Given the description of an element on the screen output the (x, y) to click on. 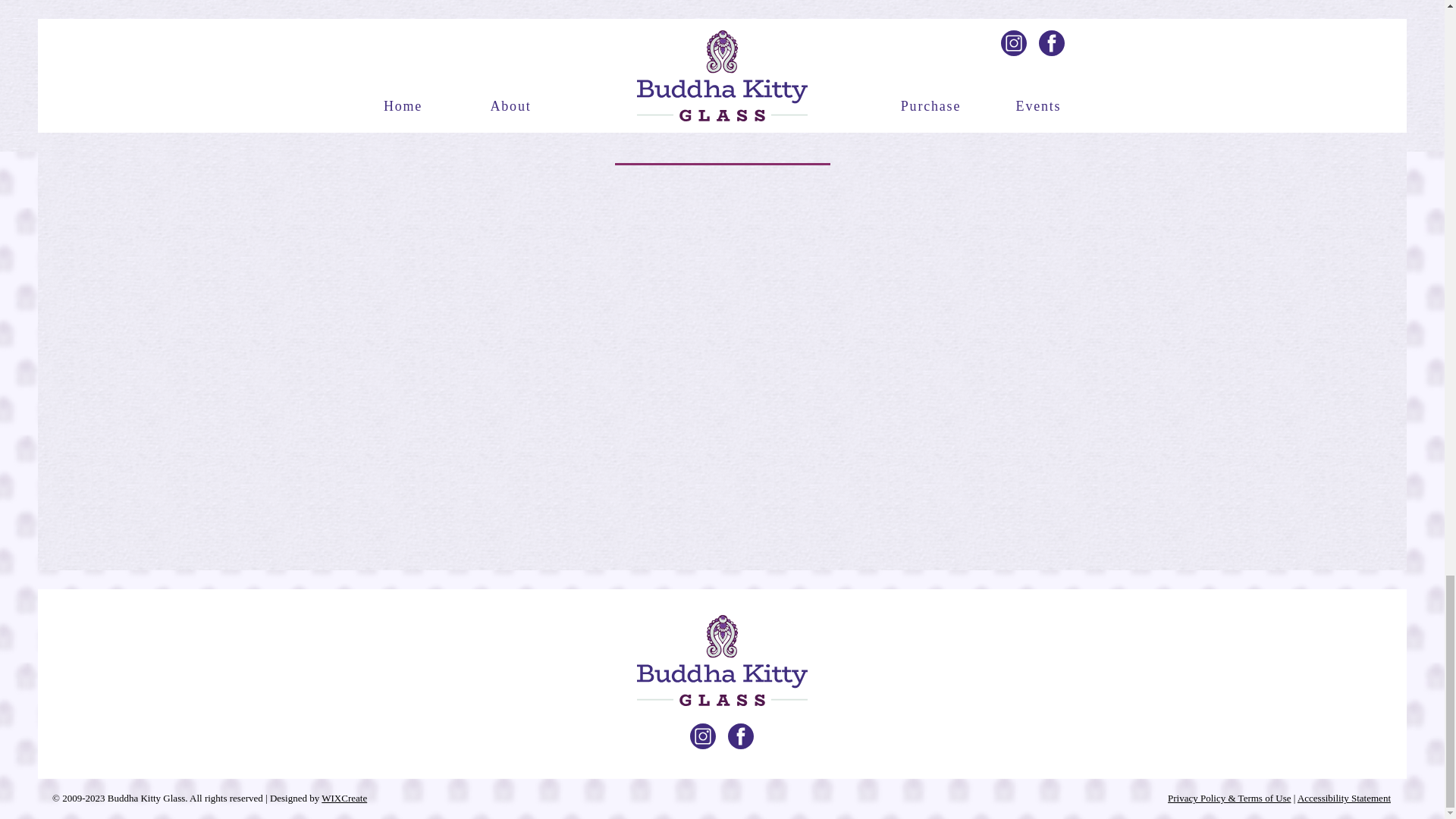
Accessibility Statement (1343, 797)
WIXCreate (343, 797)
